Given the description of an element on the screen output the (x, y) to click on. 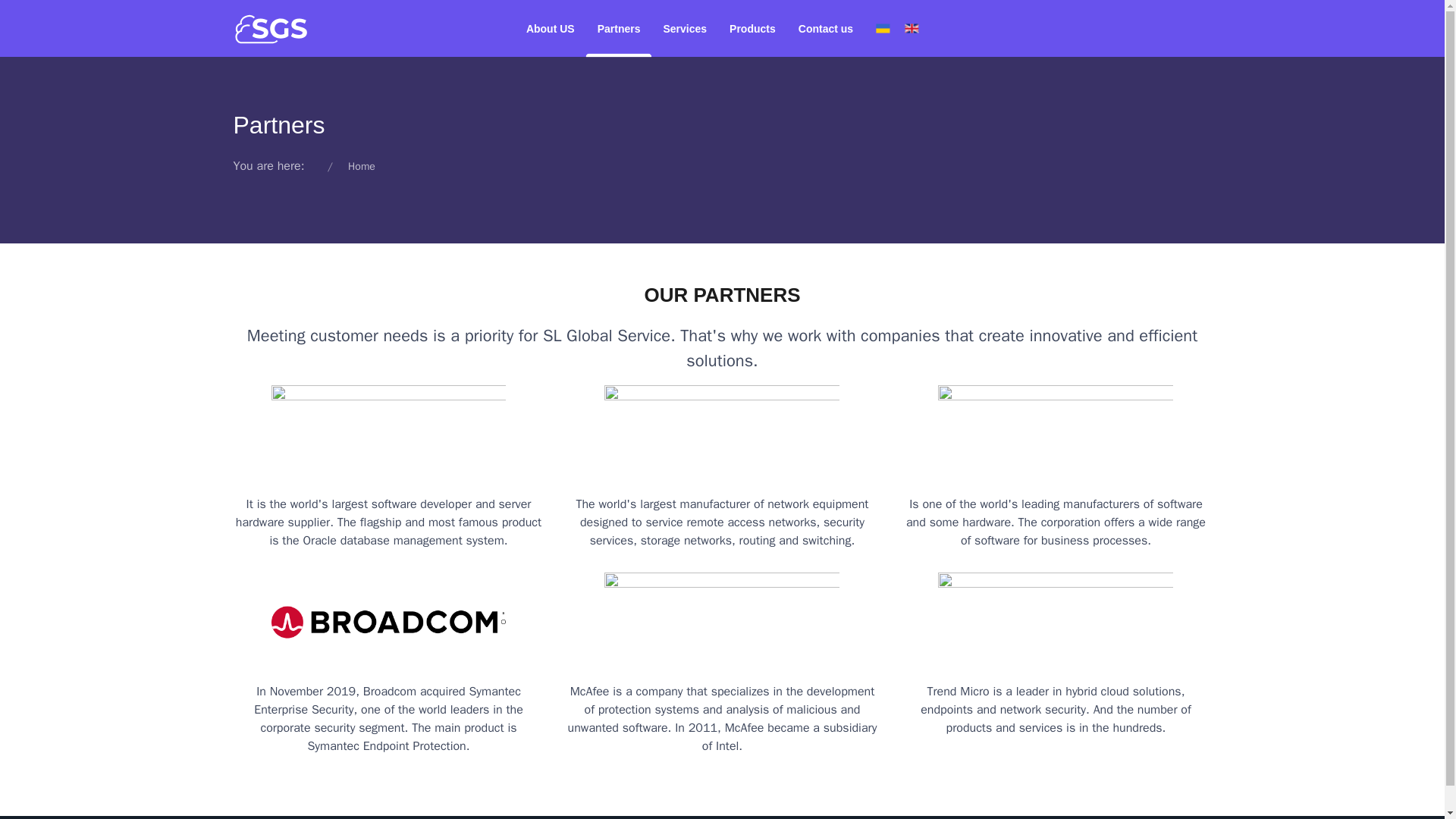
Partners (619, 28)
Contact us (825, 28)
Products (752, 28)
Home (361, 165)
Services (683, 28)
About US (550, 28)
